Given the description of an element on the screen output the (x, y) to click on. 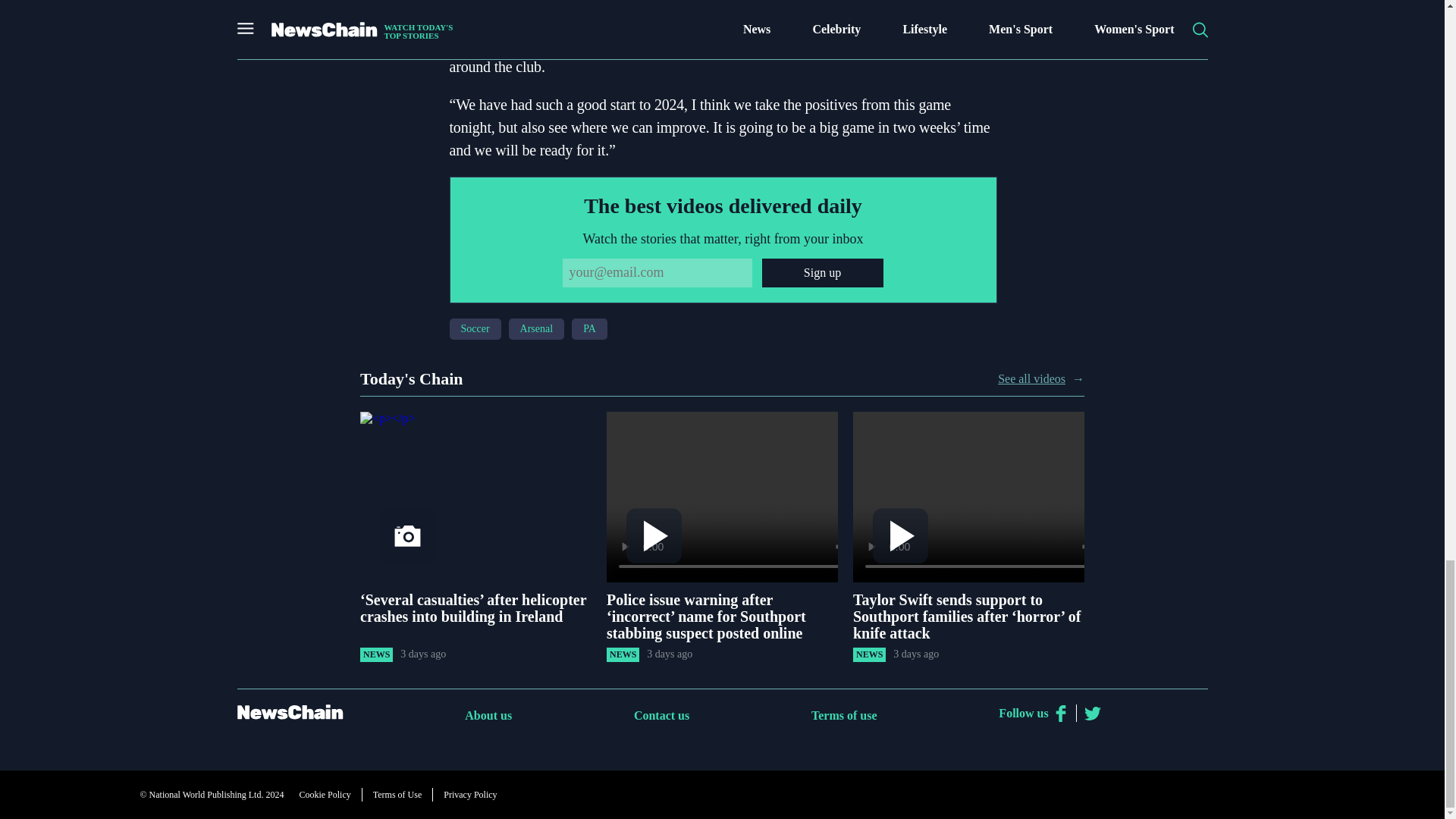
PA (589, 328)
Soccer (474, 328)
Sign up (822, 272)
NEWS (376, 654)
NEWS (869, 654)
Contact us (660, 715)
About us (488, 715)
See all videos (1031, 378)
Sign up (822, 272)
